Given the description of an element on the screen output the (x, y) to click on. 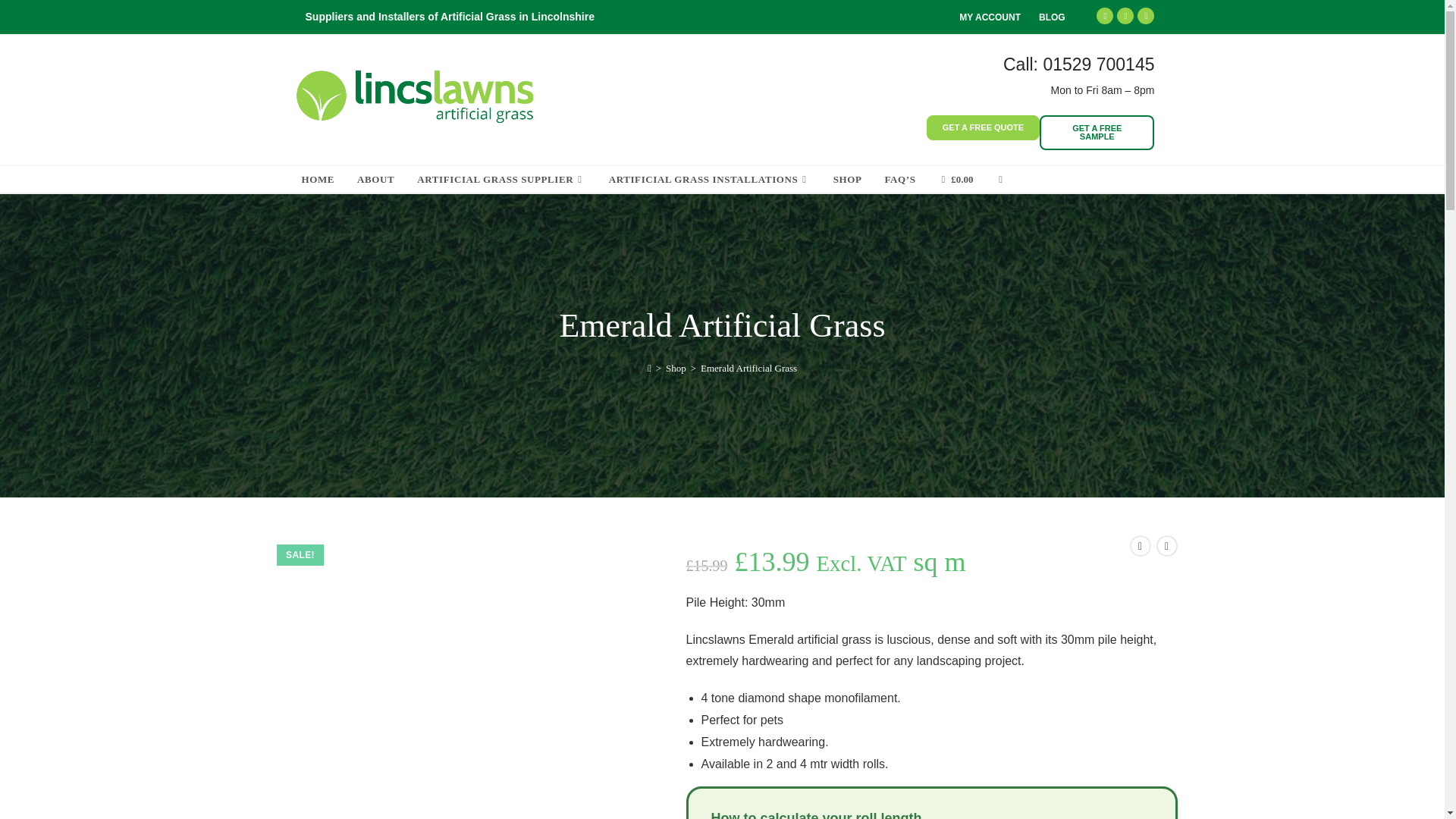
BLOG (1052, 17)
ABOUT (376, 179)
ARTIFICIAL GRASS INSTALLATIONS (709, 179)
GET A FREE QUOTE (982, 127)
GET A FREE SAMPLE (1096, 132)
ARTIFICIAL GRASS SUPPLIER (501, 179)
MY ACCOUNT (989, 17)
HOME (317, 179)
SHOP (847, 179)
